Given the description of an element on the screen output the (x, y) to click on. 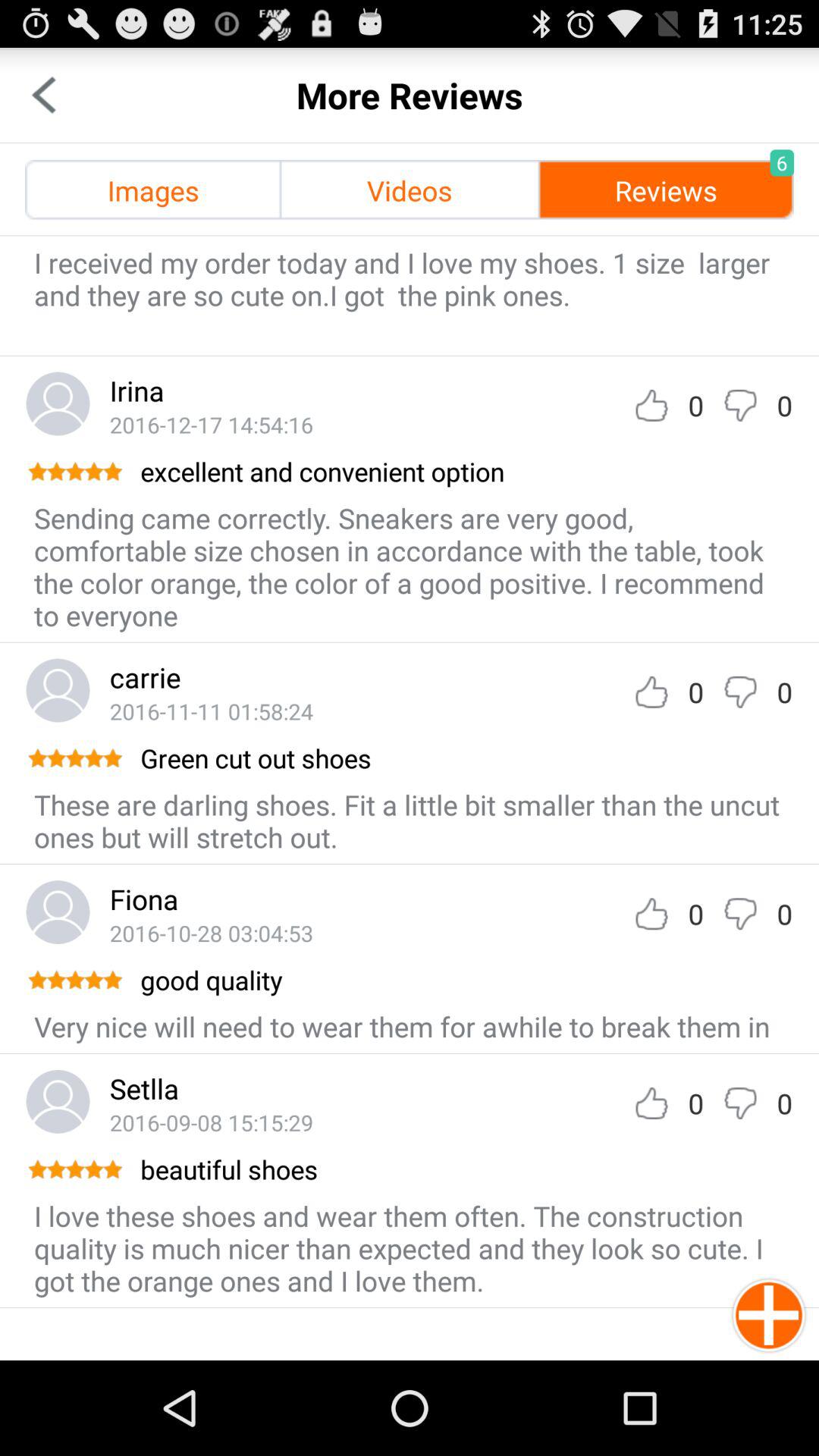
scroll to the beautiful shoes icon (465, 1168)
